Given the description of an element on the screen output the (x, y) to click on. 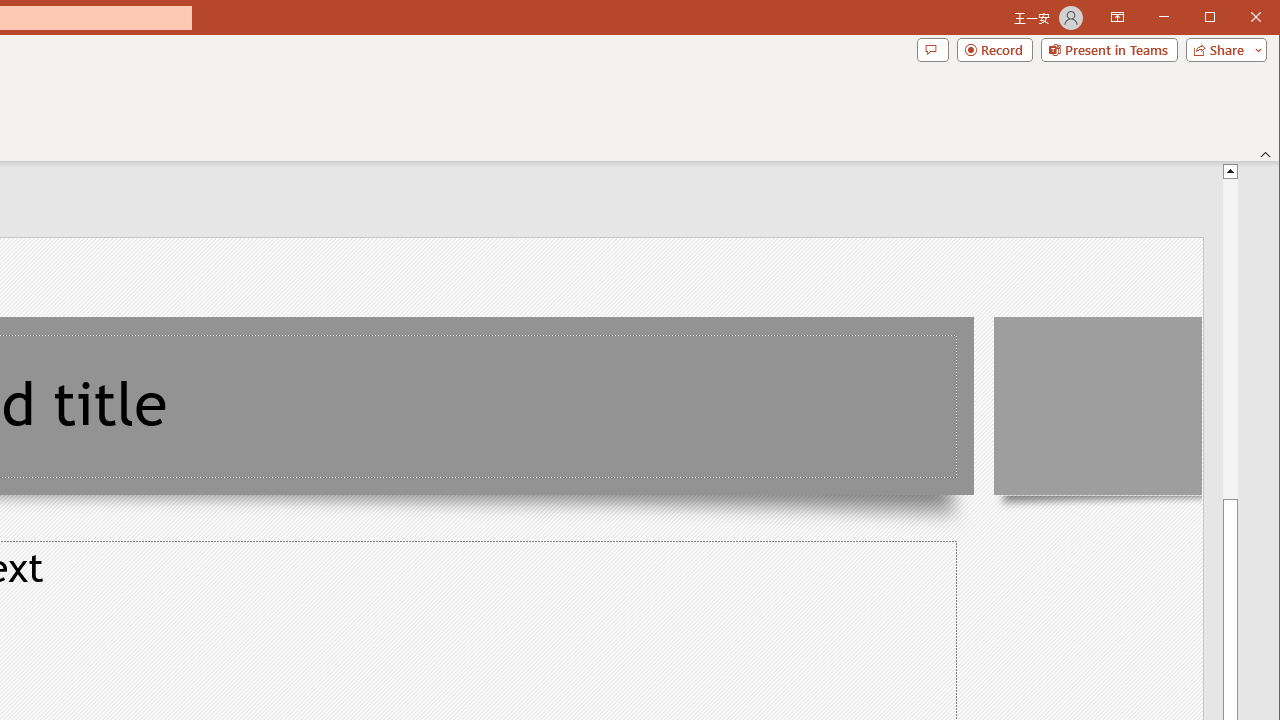
Maximize (1238, 18)
